Given the description of an element on the screen output the (x, y) to click on. 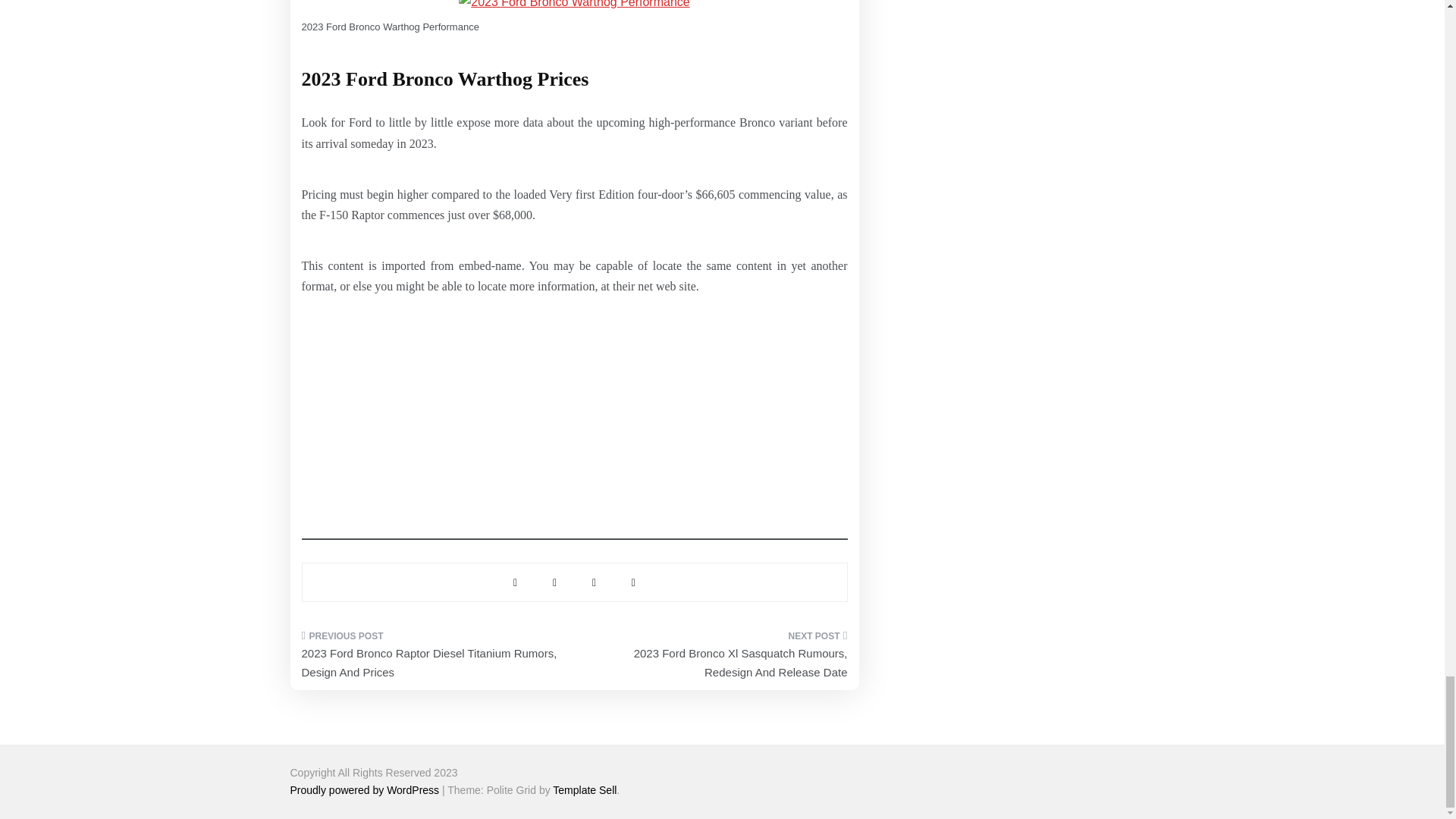
2023 Ford Bronco Warthog Performance (573, 6)
